Given the description of an element on the screen output the (x, y) to click on. 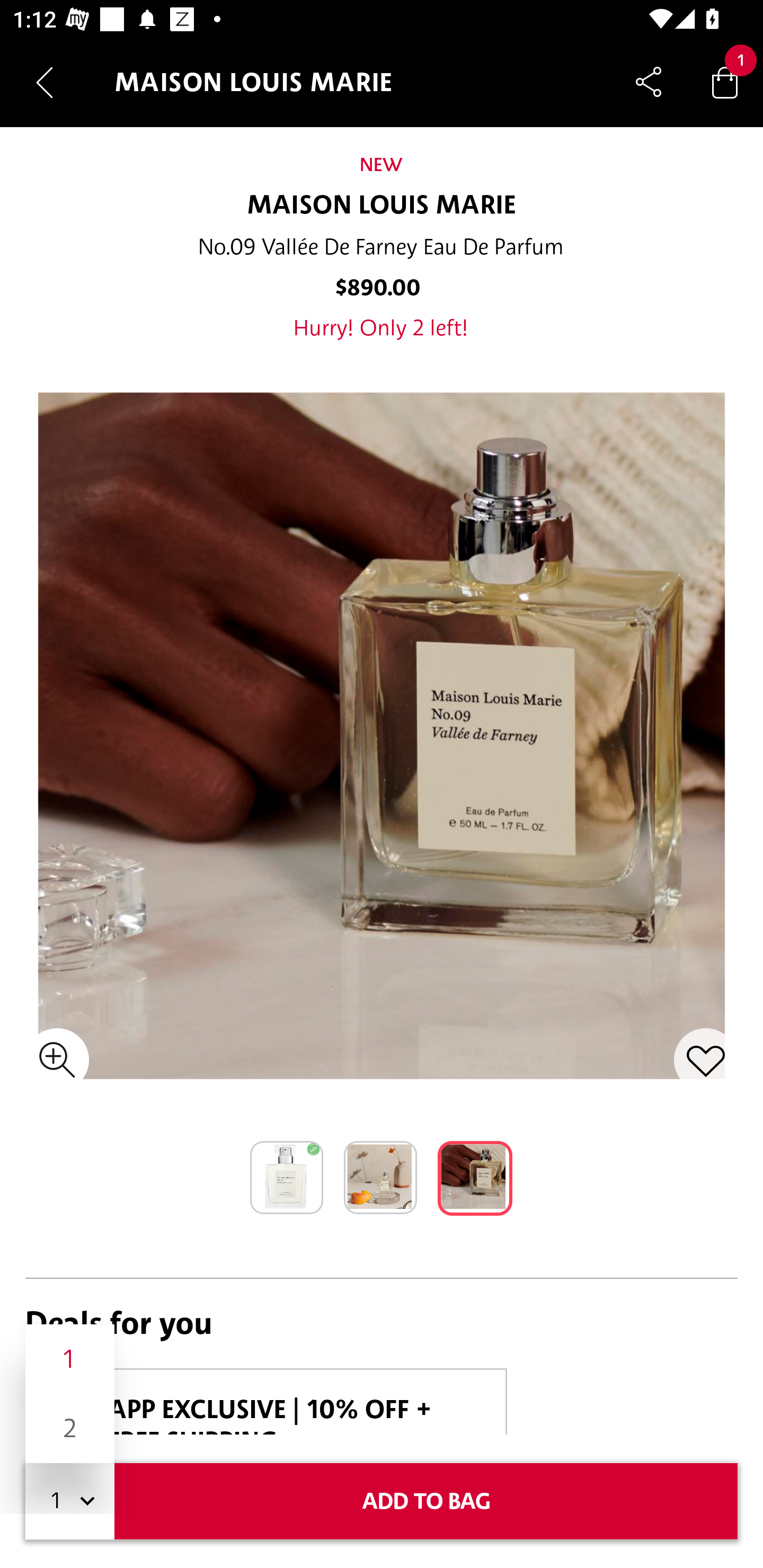
1 (69, 1358)
2 (69, 1427)
